Given the description of an element on the screen output the (x, y) to click on. 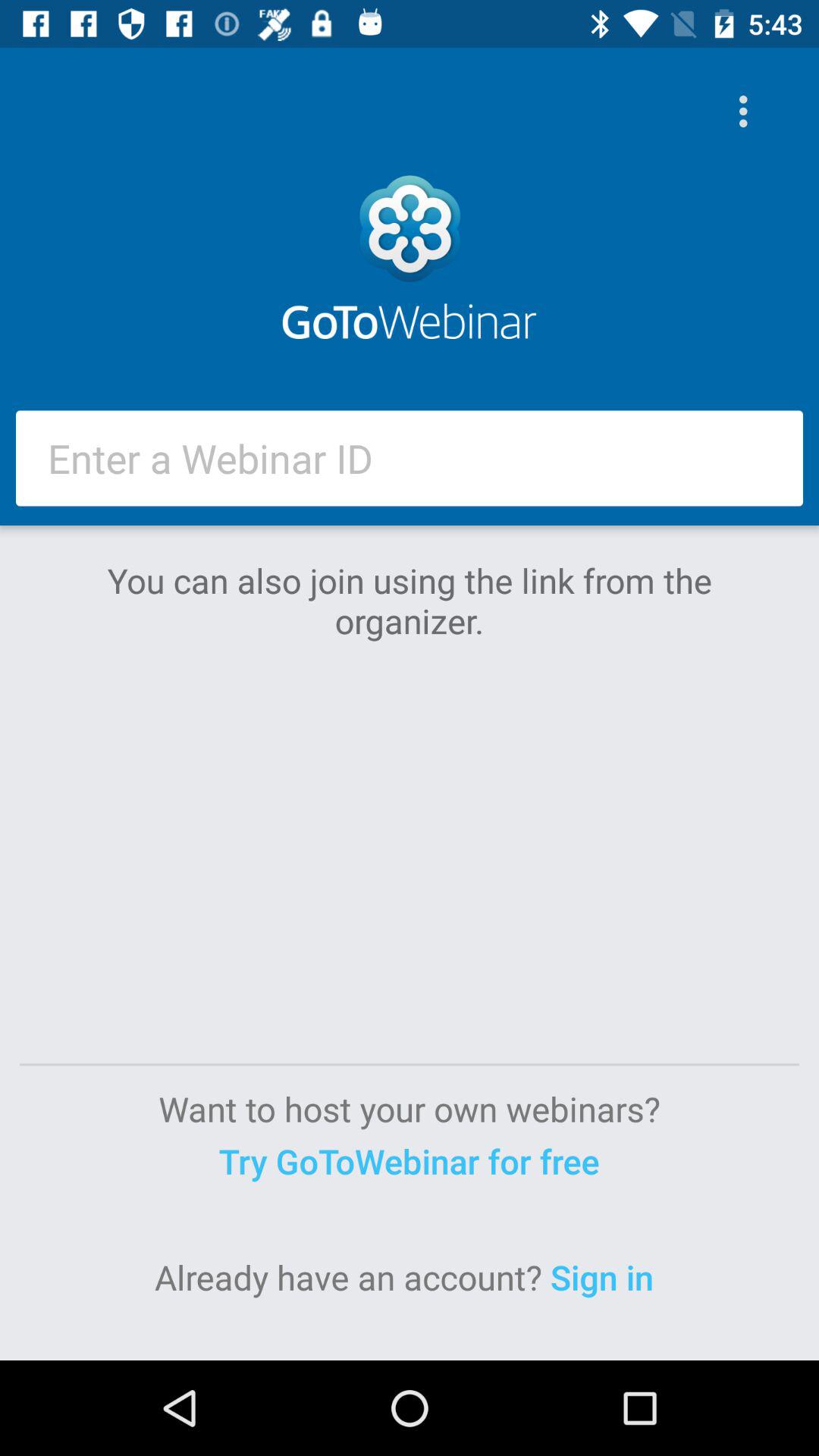
launch the item at the bottom right corner (606, 1276)
